Given the description of an element on the screen output the (x, y) to click on. 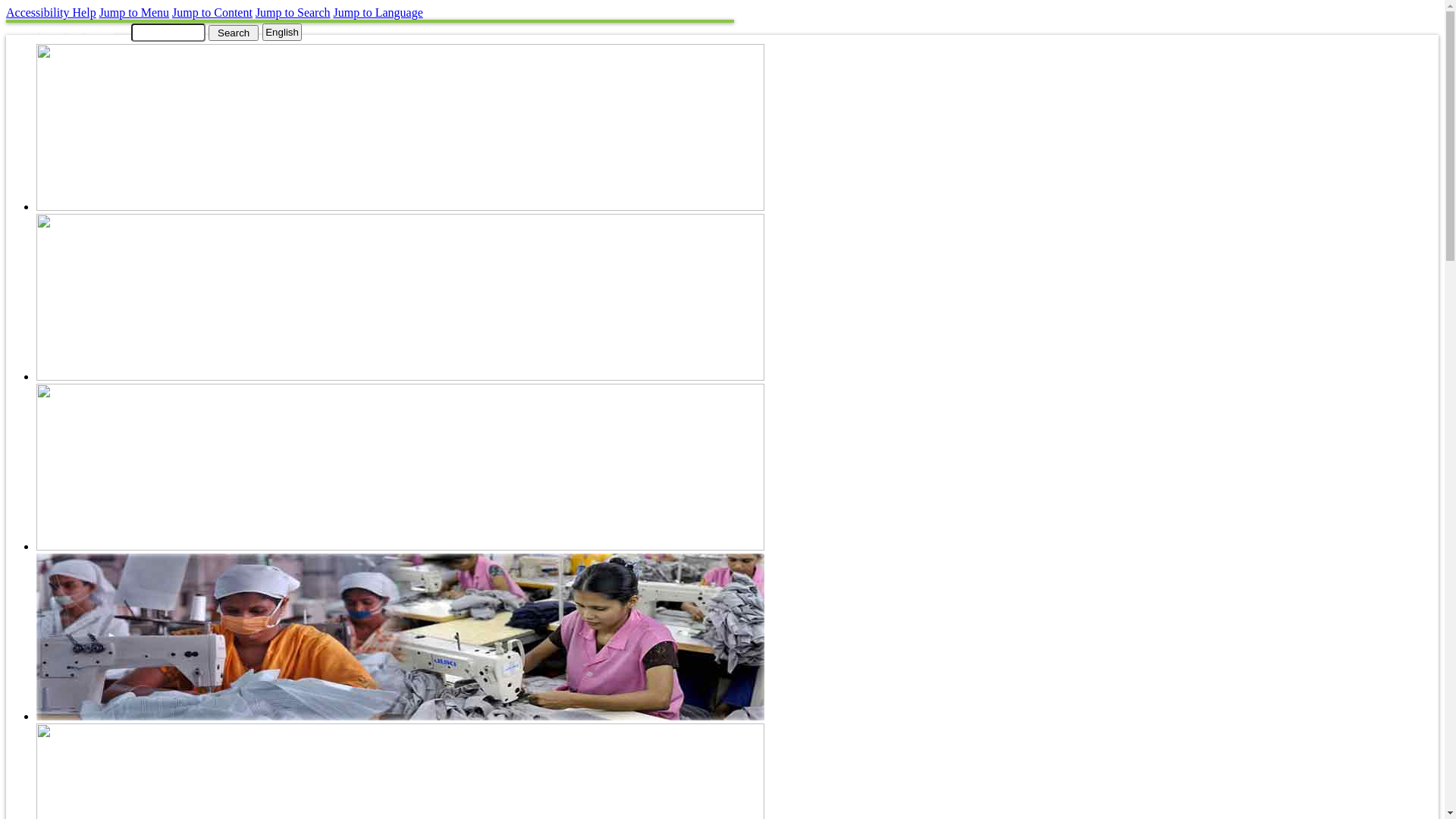
Jump to Content Element type: text (212, 12)
Search Element type: text (233, 32)
Jump to Search Element type: text (292, 12)
Jump to Language Element type: text (378, 12)
English Element type: text (281, 31)
Accessibility Help Element type: text (51, 12)
Jump to Menu Element type: text (134, 12)
